Given the description of an element on the screen output the (x, y) to click on. 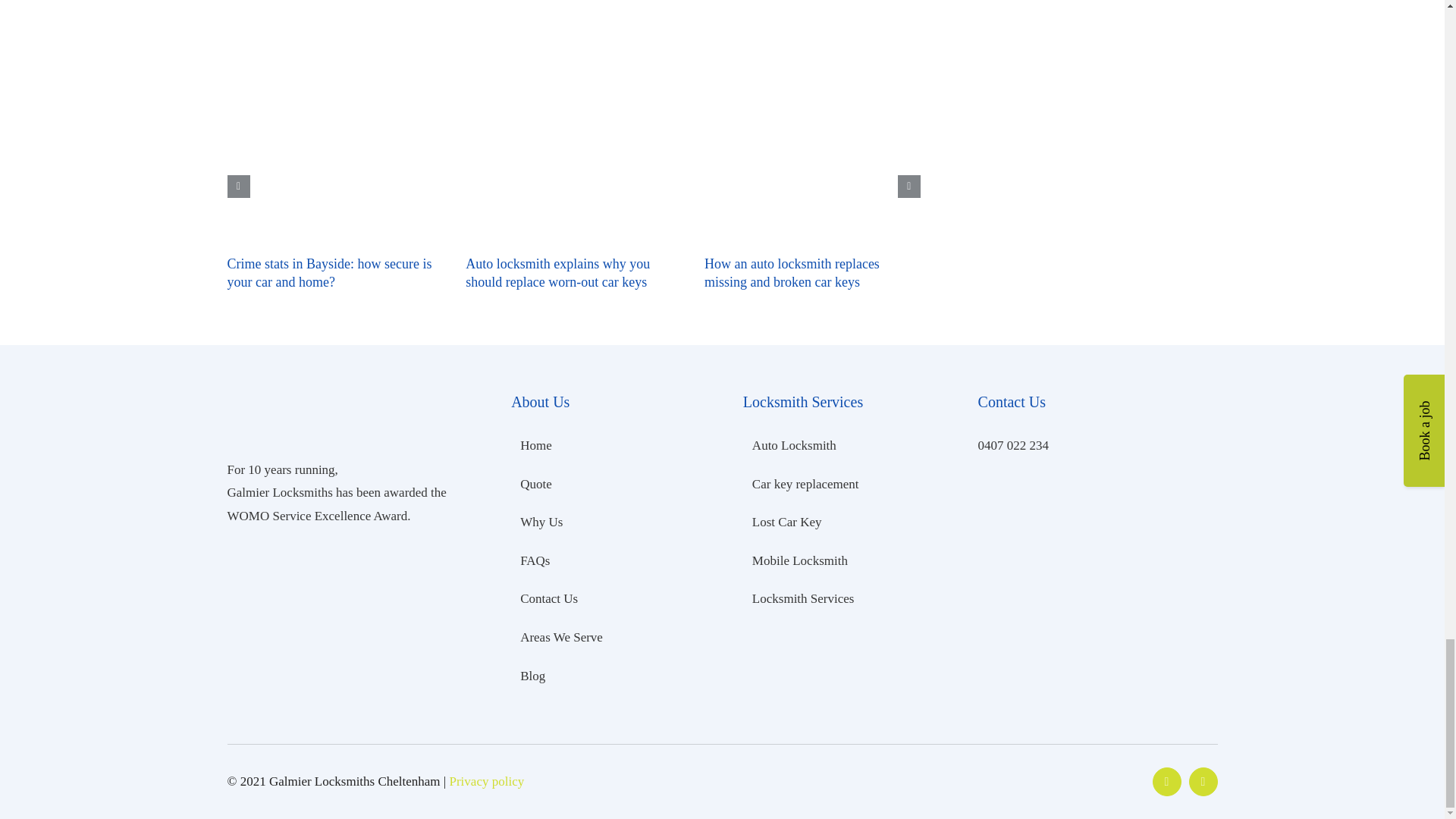
Crime stats in Bayside: how secure is your car and home? (329, 272)
Facebook (1166, 781)
How an auto locksmith replaces missing and broken car keys (791, 272)
LinkedIn (1203, 781)
